Given the description of an element on the screen output the (x, y) to click on. 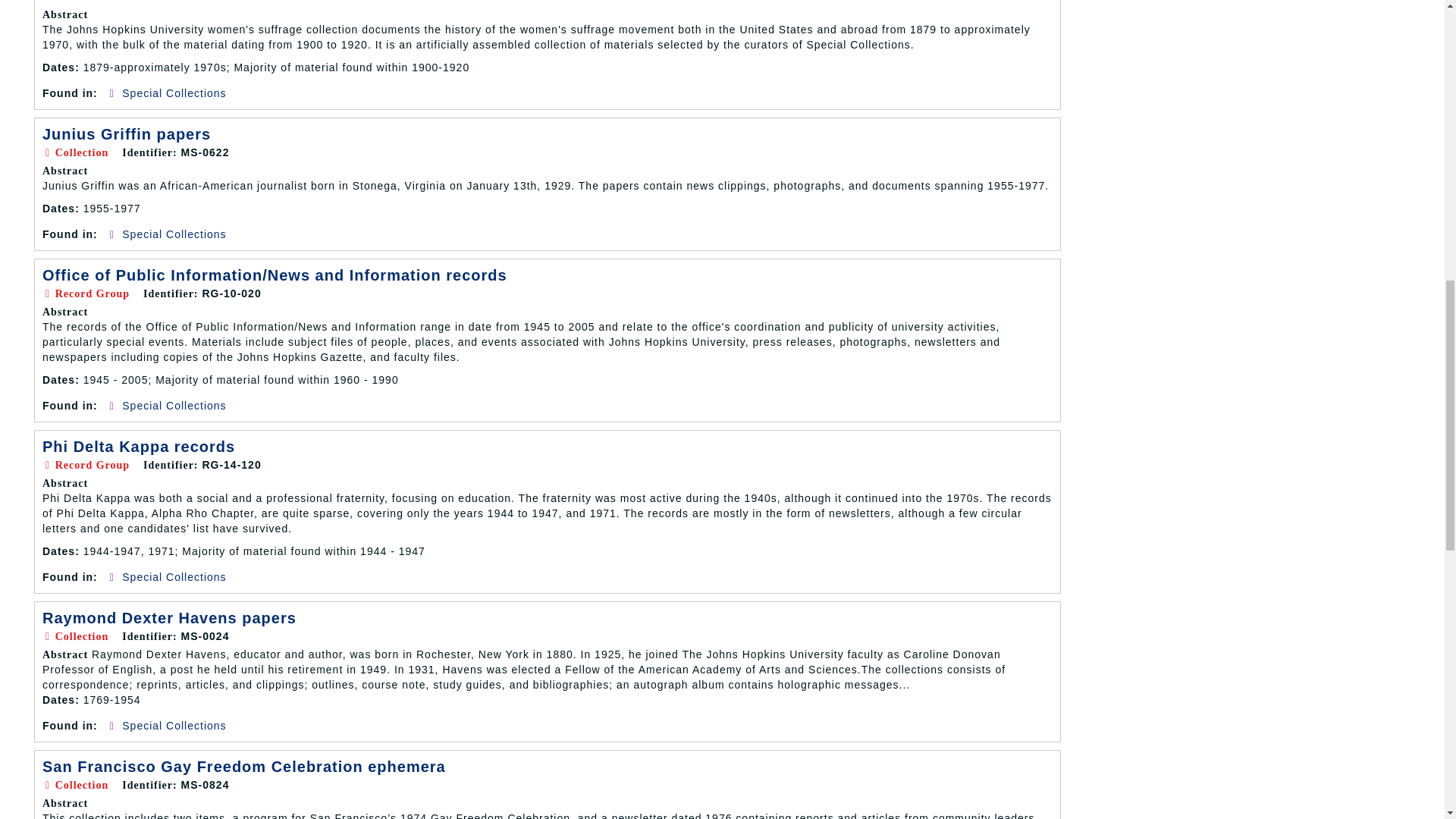
San Francisco Gay Freedom Celebration ephemera (243, 766)
Phi Delta Kappa records (138, 446)
Raymond Dexter Havens papers (169, 617)
Special Collections (173, 405)
Junius Griffin papers (126, 134)
Special Collections (173, 725)
Special Collections (173, 92)
Special Collections (173, 234)
Special Collections (173, 576)
